Given the description of an element on the screen output the (x, y) to click on. 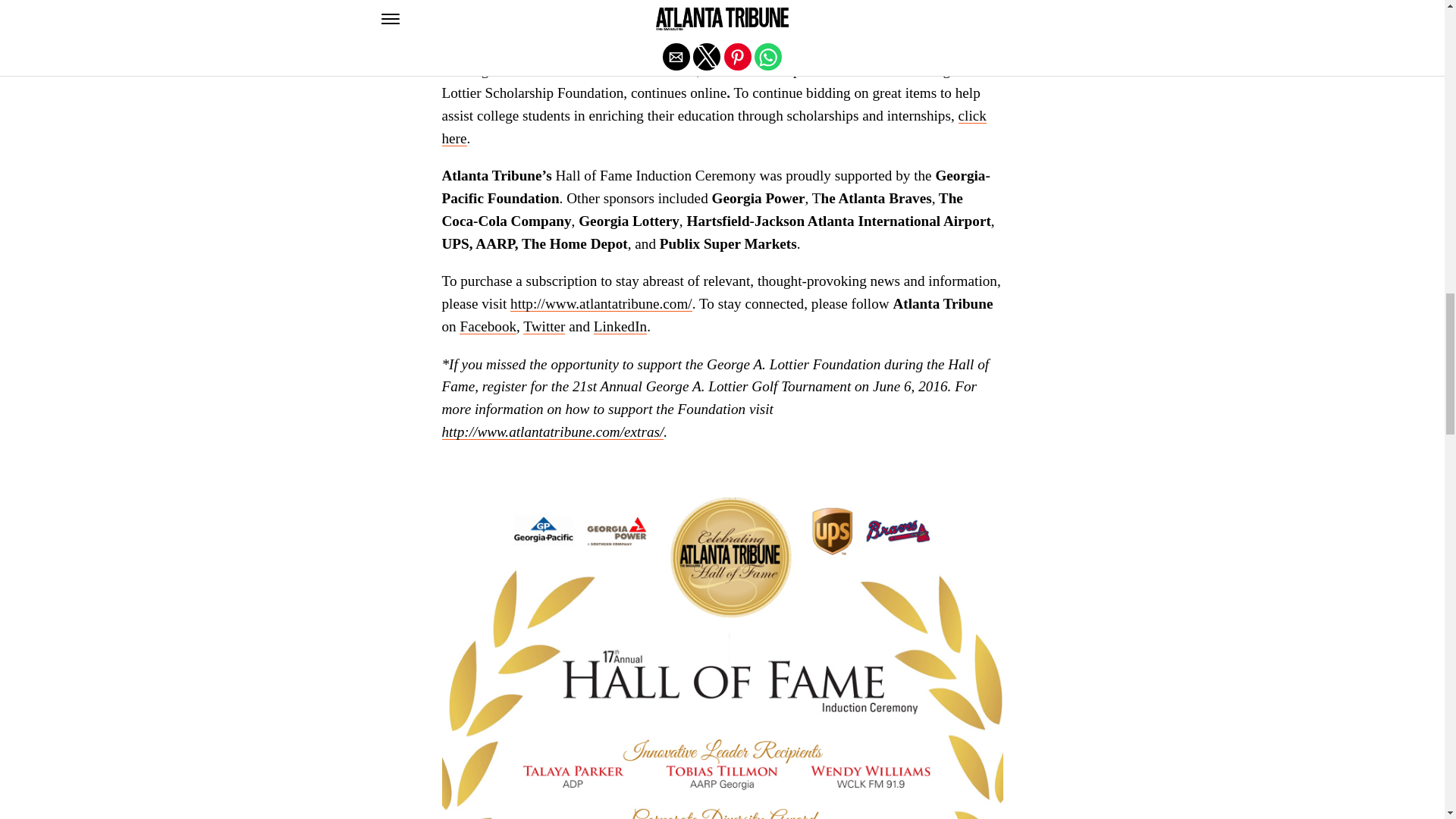
LinkedIn (620, 326)
Twitter (543, 326)
click here (713, 126)
Facebook (488, 326)
